Given the description of an element on the screen output the (x, y) to click on. 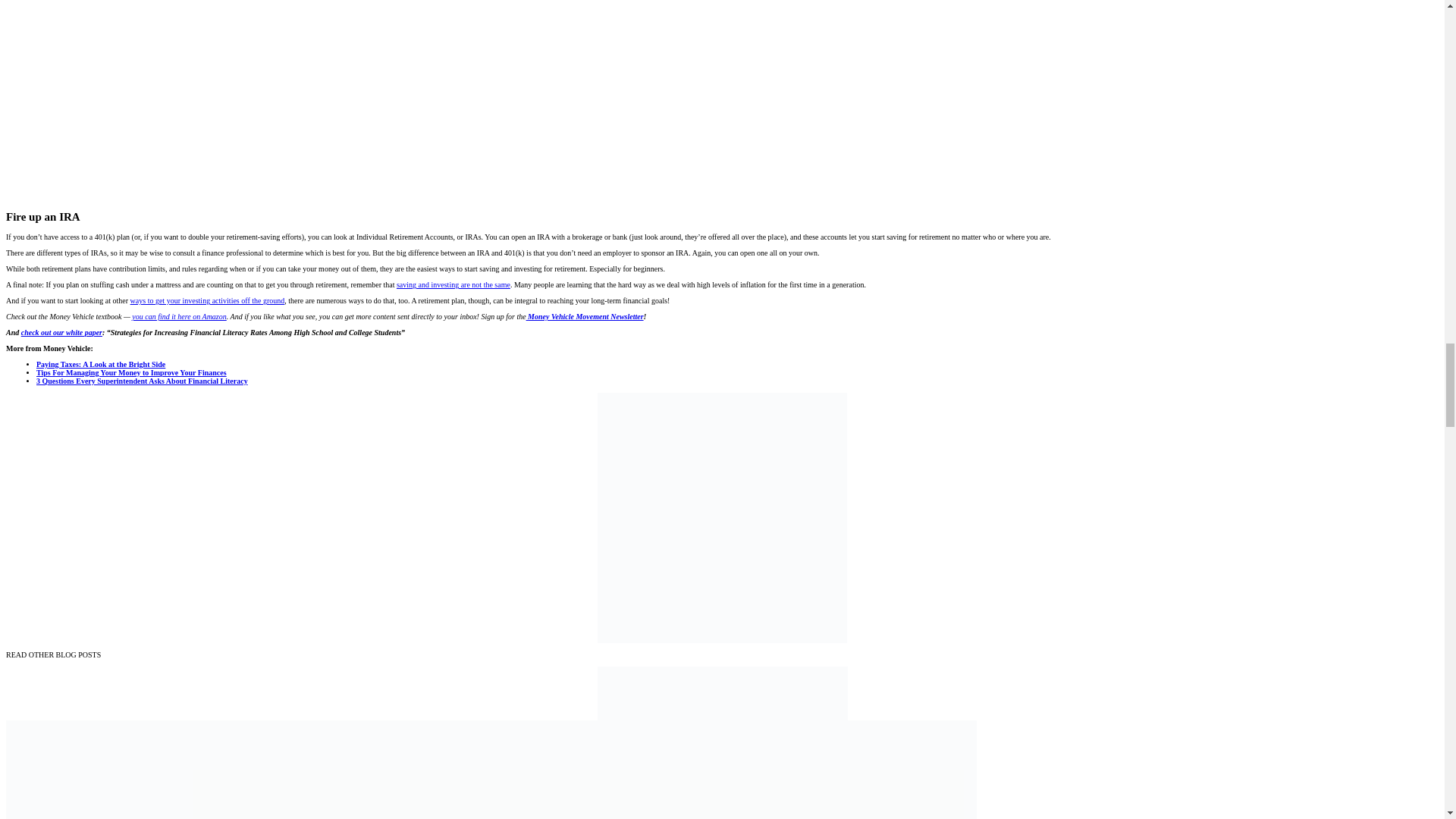
How long does it take an investment to DOUBLE?? (290, 99)
